Given the description of an element on the screen output the (x, y) to click on. 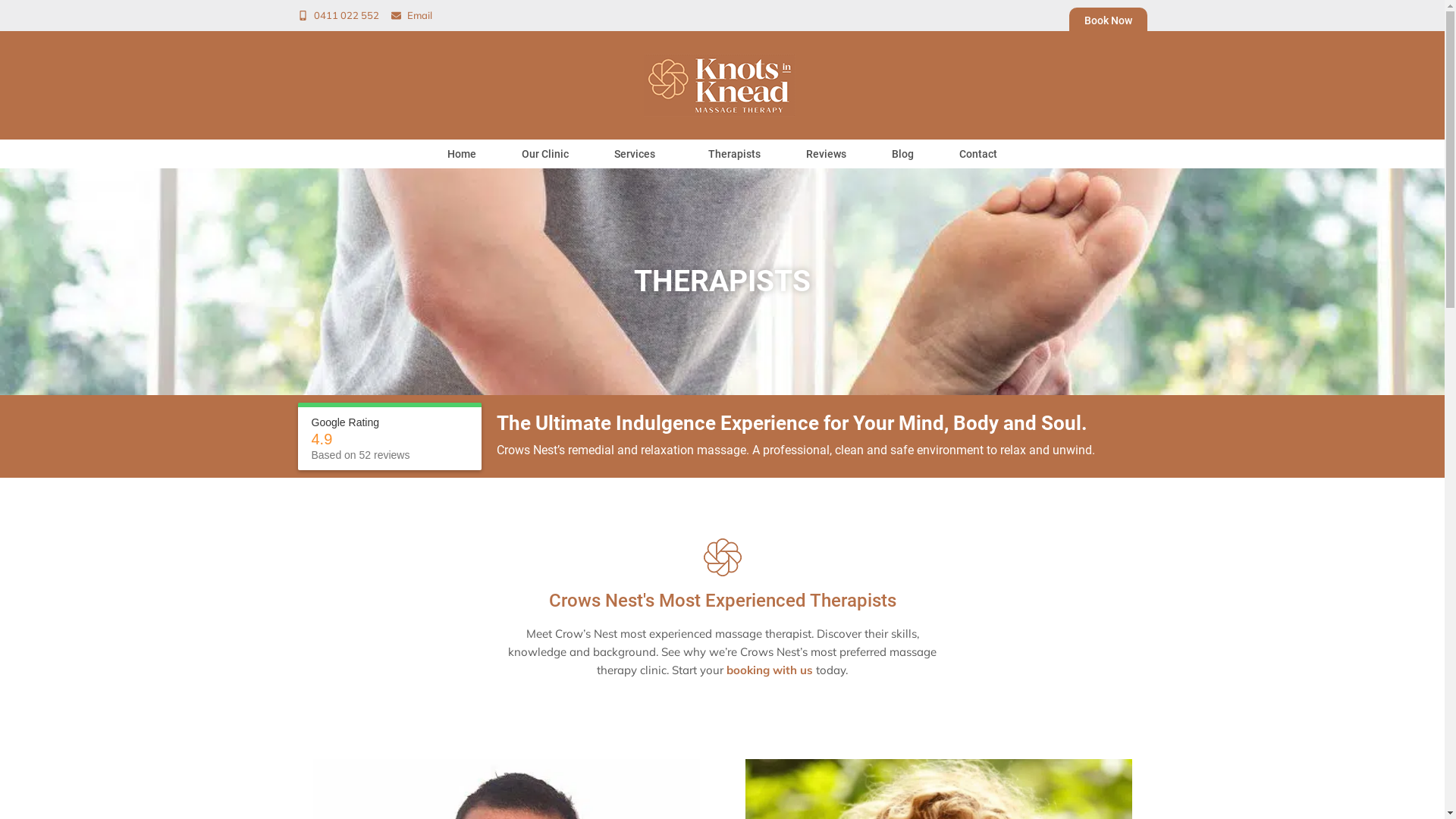
booking with us Element type: text (769, 669)
Contact Element type: text (977, 153)
Services Element type: text (638, 153)
Our Clinic Element type: text (544, 153)
Book Now Element type: text (1108, 19)
Therapists 2 Element type: hover (722, 557)
Therapists Element type: text (734, 153)
0411 022 552 Element type: text (337, 15)
Reviews Element type: text (826, 153)
Home Element type: text (461, 153)
Blog Element type: text (902, 153)
Email Element type: text (411, 15)
